Given the description of an element on the screen output the (x, y) to click on. 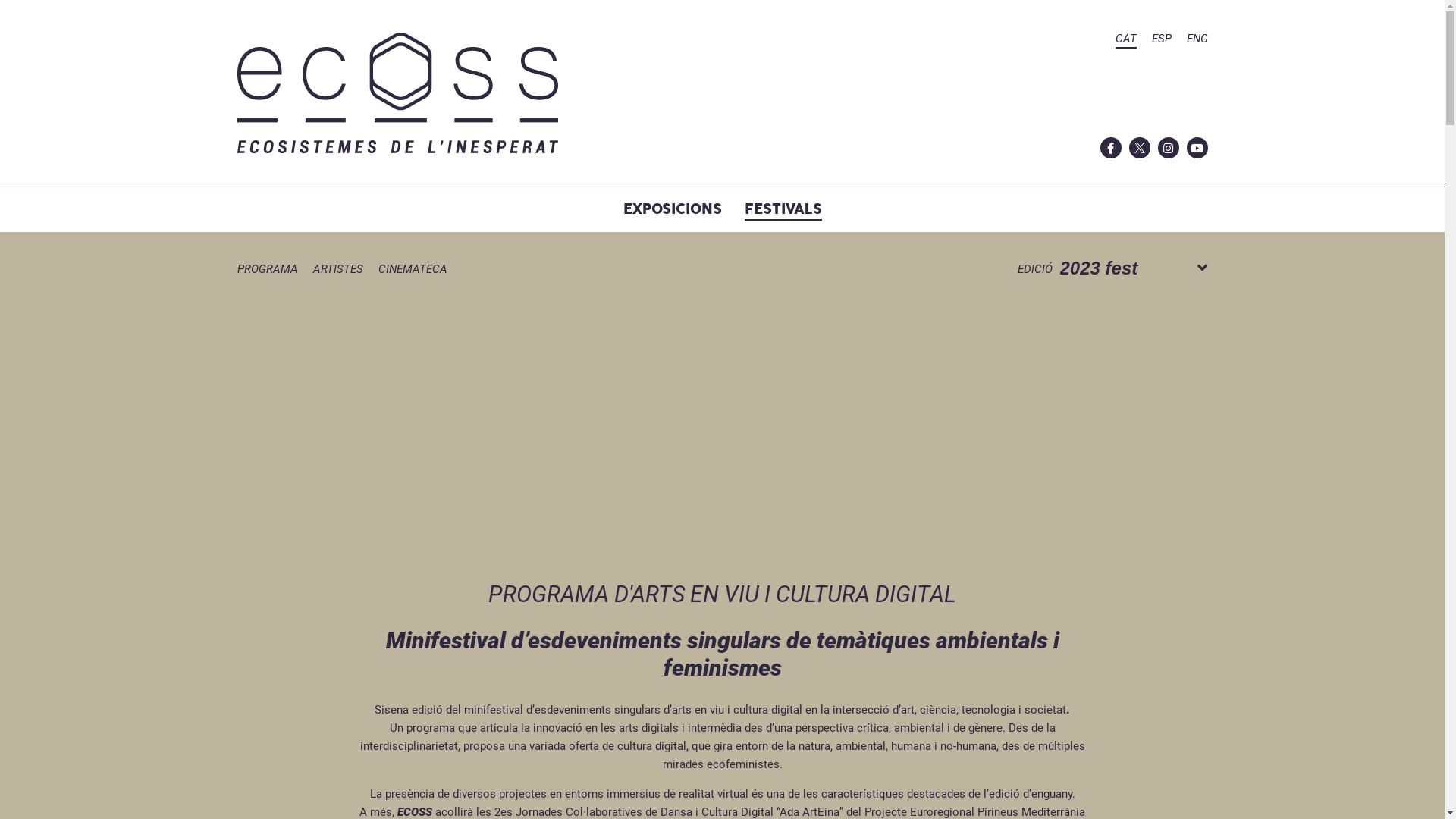
ENG Element type: text (1196, 40)
ESP Element type: text (1160, 40)
CAT Element type: text (1124, 40)
FESTIVALS Element type: text (783, 209)
ARTISTES Element type: text (337, 270)
CINEMATECA Element type: text (411, 270)
PROGRAMA Element type: text (266, 270)
EXPOSICIONS Element type: text (672, 209)
